Given the description of an element on the screen output the (x, y) to click on. 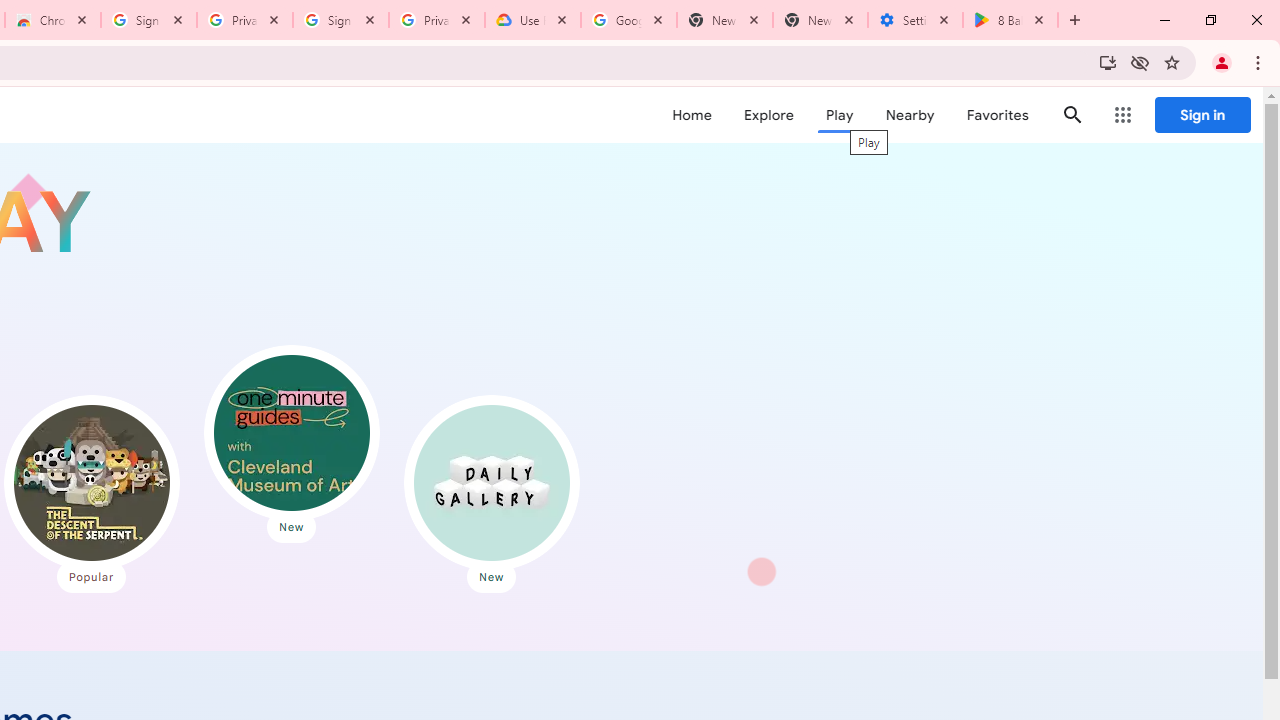
8 Ball Pool - Apps on Google Play (1010, 20)
New Tab (820, 20)
Play (840, 115)
One Minute Guides, with Cleveland Museum of Art (291, 432)
Sign in - Google Accounts (341, 20)
Nearby (910, 115)
Explore (768, 115)
